Given the description of an element on the screen output the (x, y) to click on. 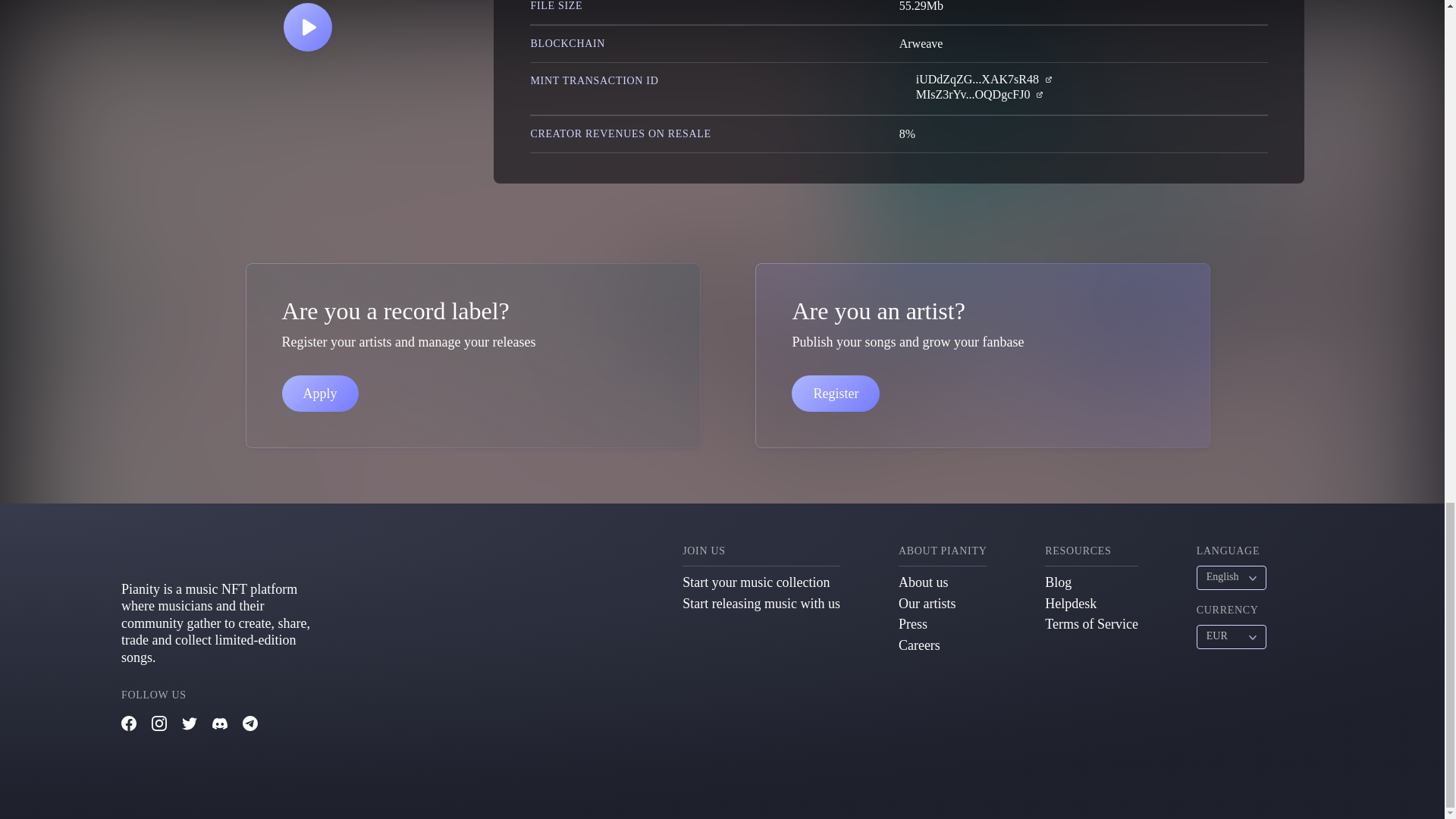
Apply (320, 393)
MIsZ3rYv...OQDgcFJ0 (972, 94)
iUDdZqZG...XAK7sR48 (977, 79)
Register (835, 393)
